Given the description of an element on the screen output the (x, y) to click on. 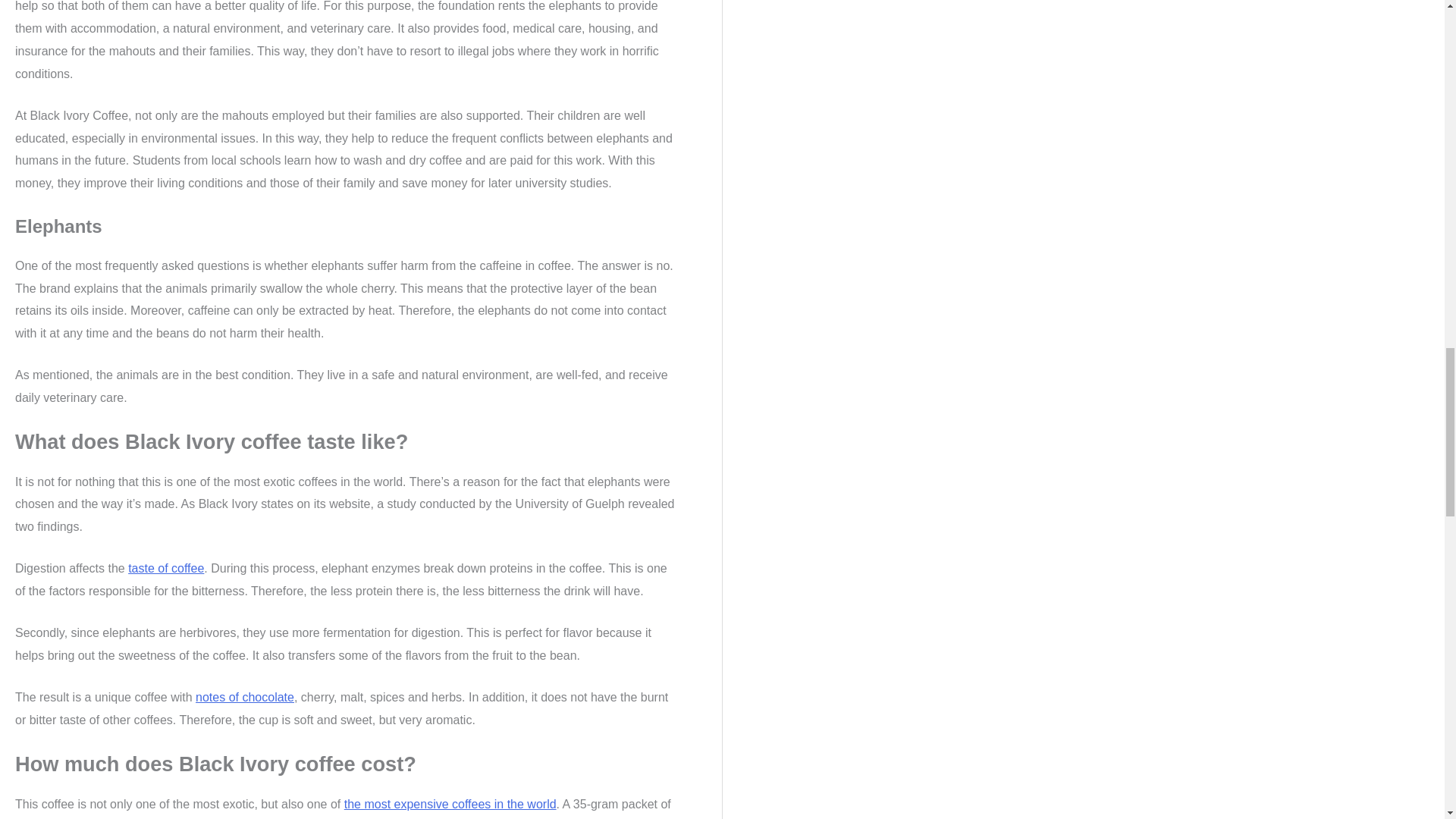
the most expensive coffees in the world (449, 803)
taste of coffee (165, 567)
notes of chocolate (244, 697)
